Given the description of an element on the screen output the (x, y) to click on. 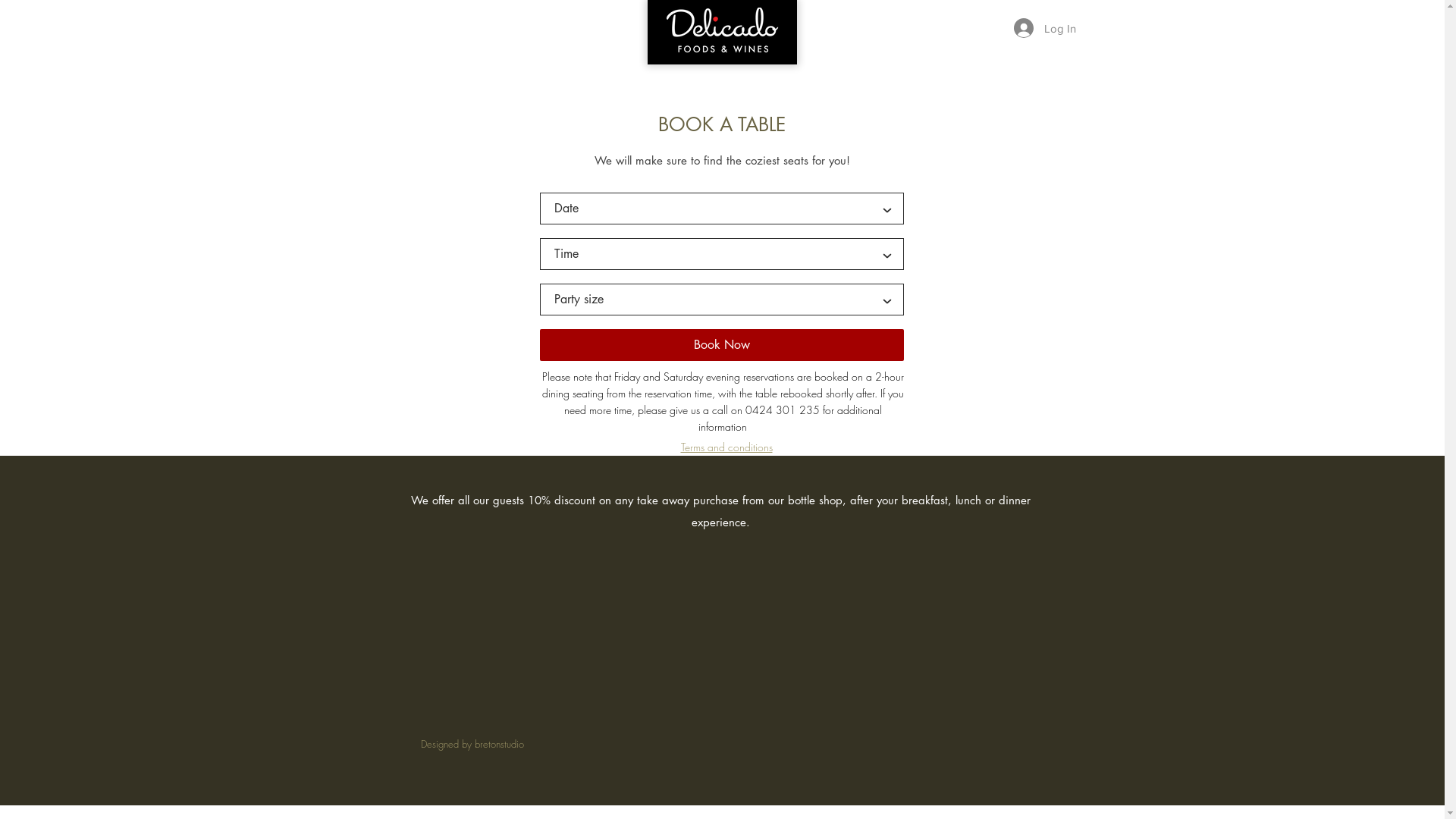
Terms and conditions Element type: text (726, 447)
Log In Element type: text (1043, 27)
Designed by bretonstudio Element type: text (471, 743)
Wix Reservations Element type: hover (720, 227)
